Given the description of an element on the screen output the (x, y) to click on. 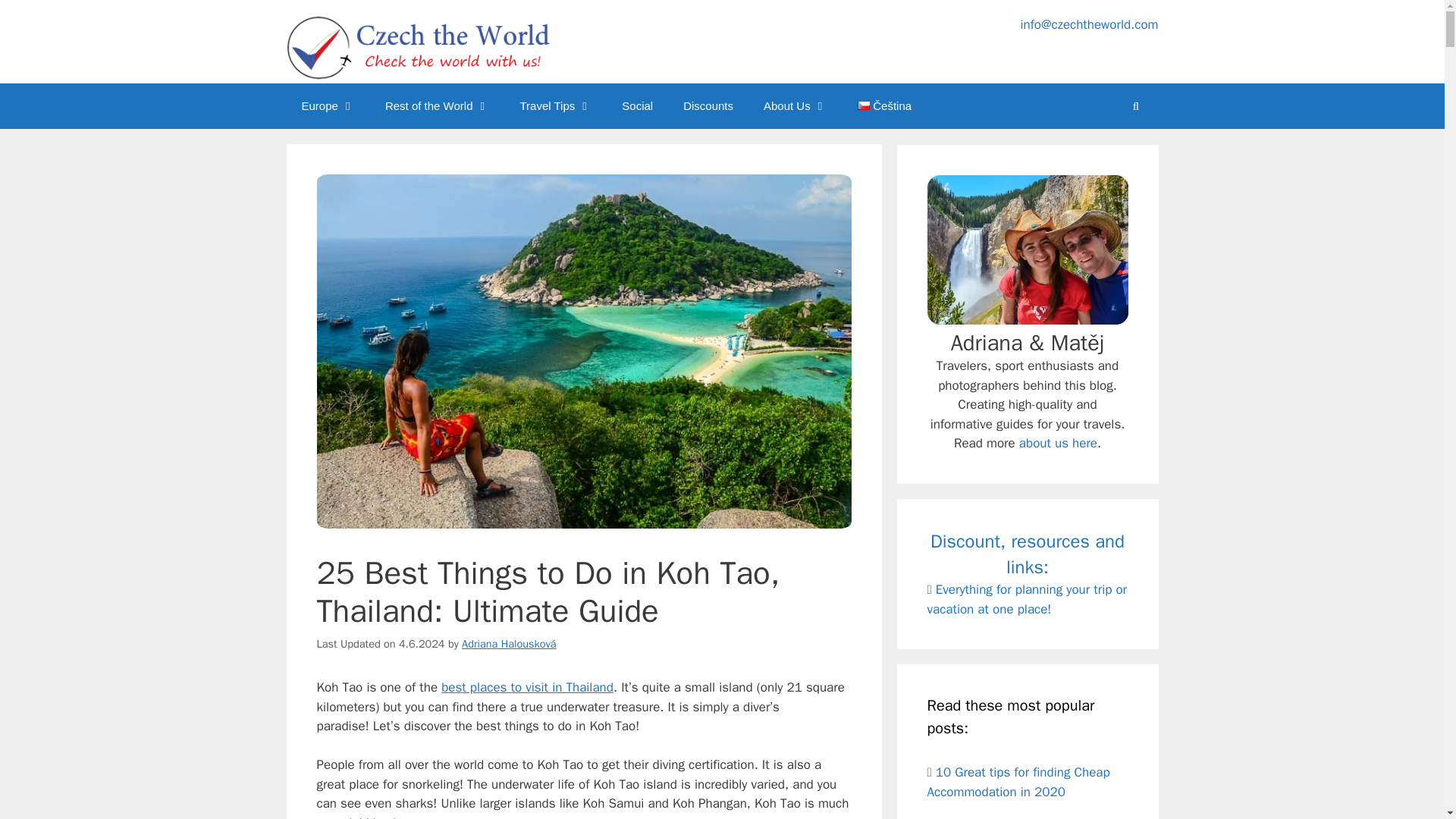
Rest of the World (437, 105)
Europe (327, 105)
About Us (795, 105)
Discounts (708, 105)
Social (637, 105)
Travel Tips (555, 105)
